Given the description of an element on the screen output the (x, y) to click on. 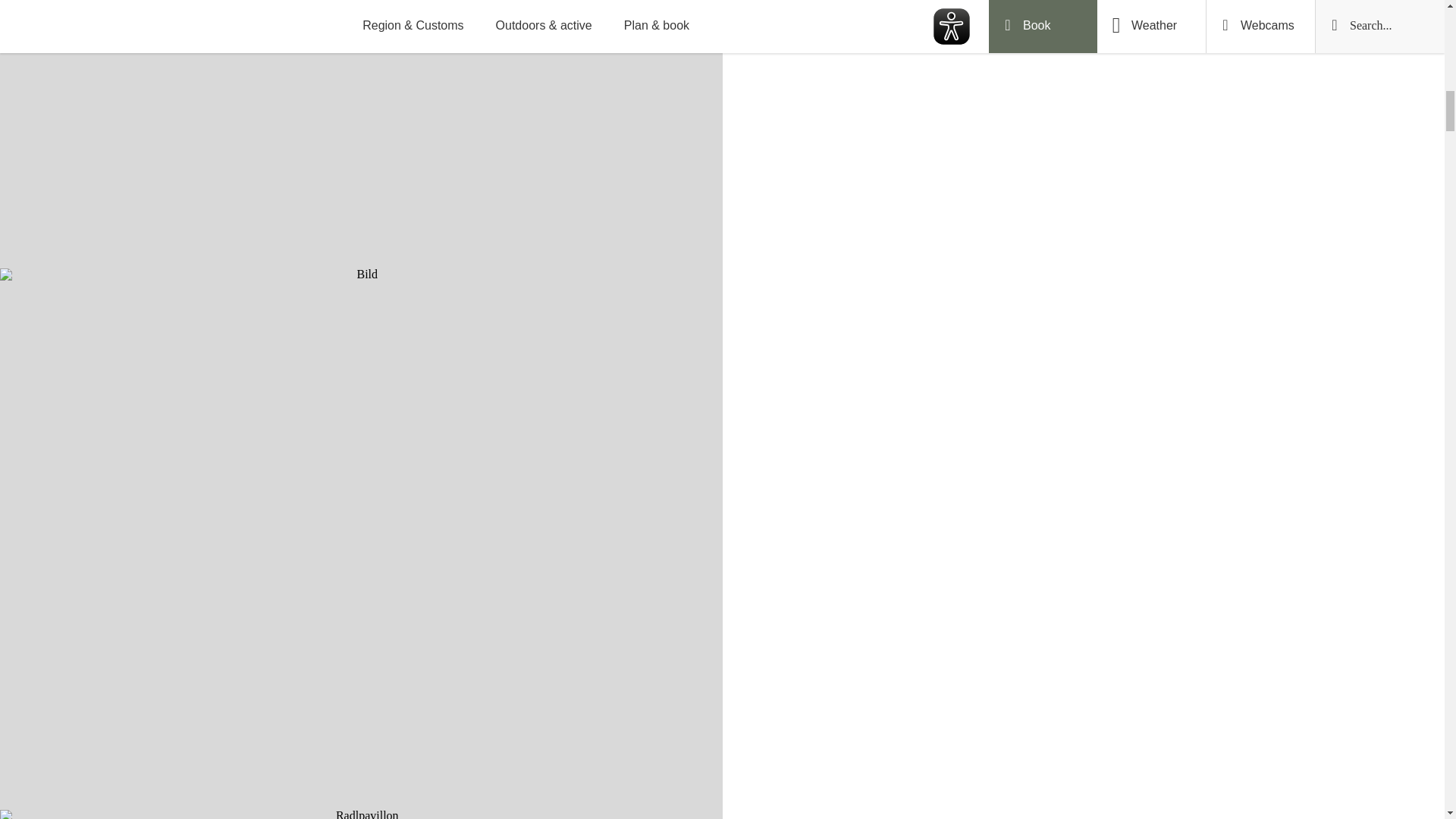
Radlpavillon (361, 814)
